Given the description of an element on the screen output the (x, y) to click on. 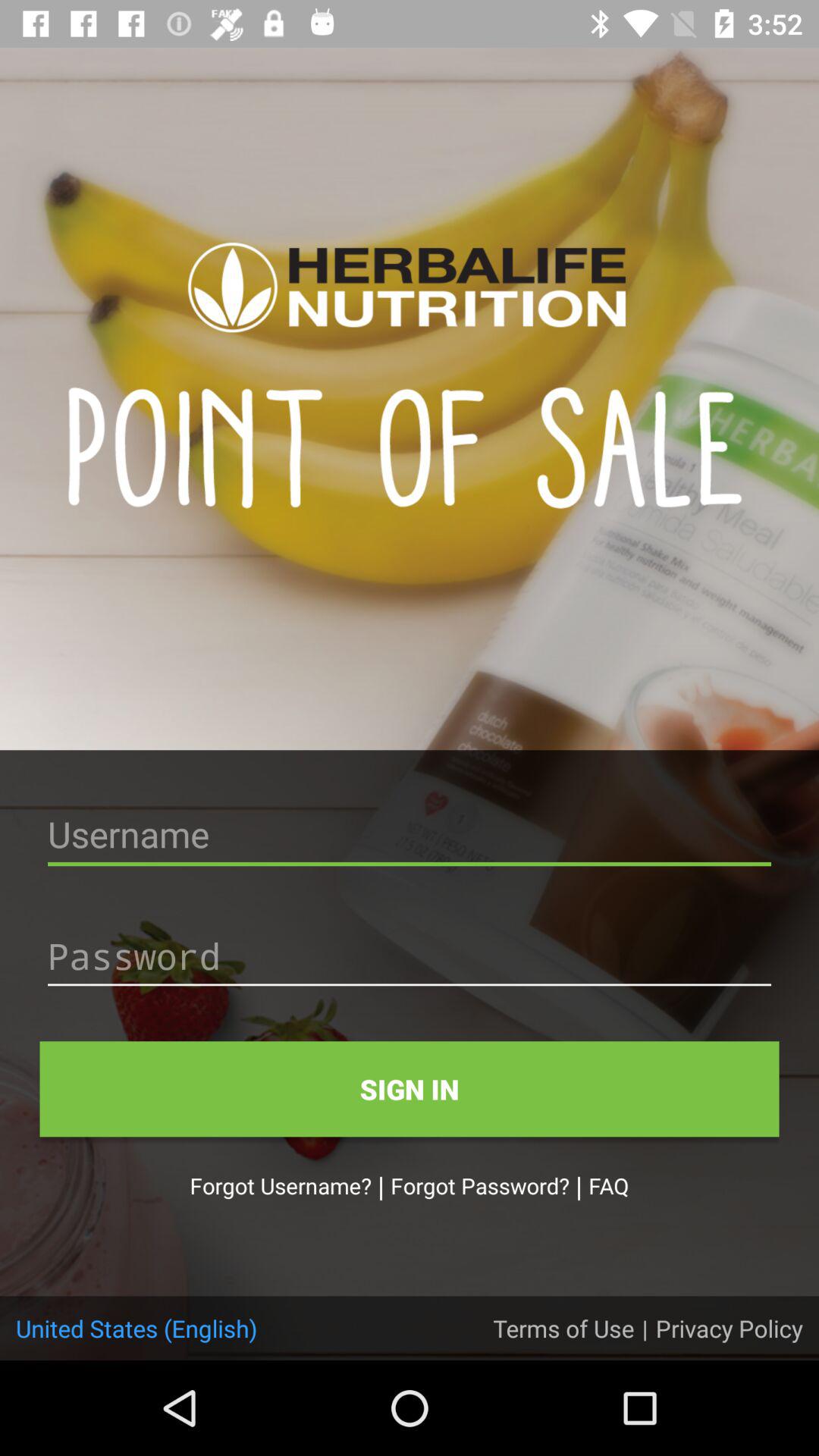
swipe to faq icon (608, 1185)
